Given the description of an element on the screen output the (x, y) to click on. 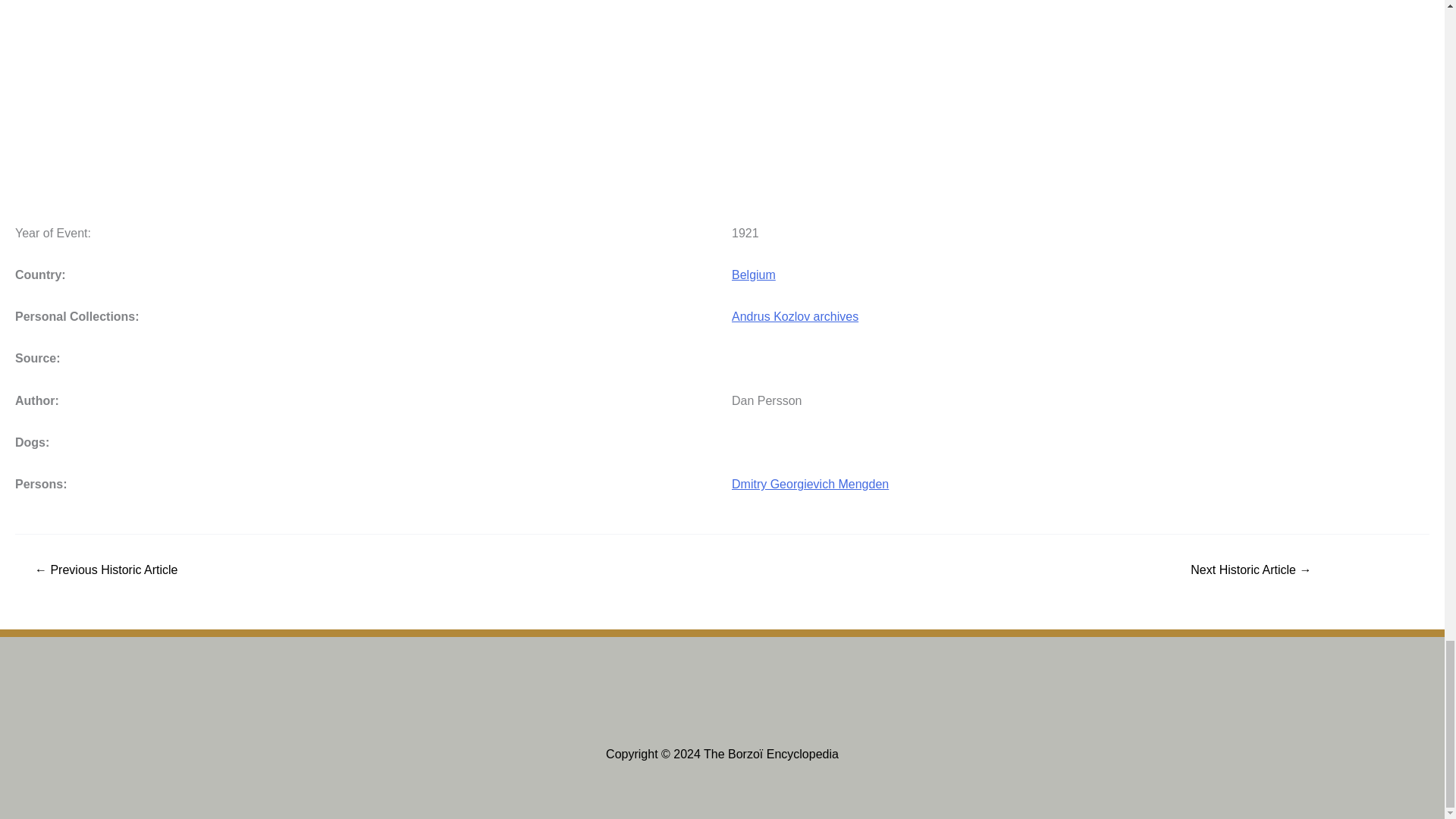
Hound on the church door (106, 570)
Three great dog people (1251, 570)
